Given the description of an element on the screen output the (x, y) to click on. 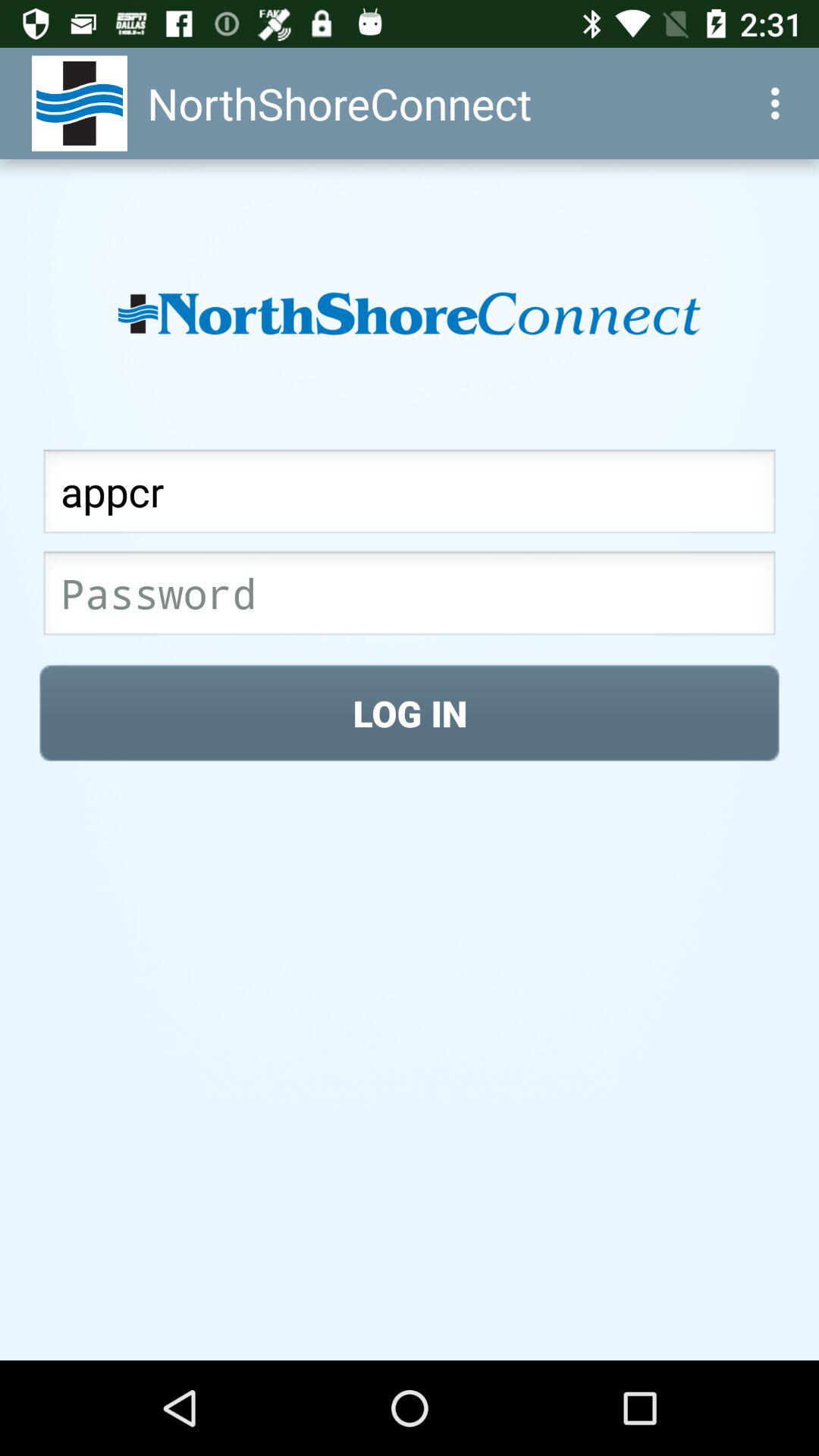
swipe to log in item (409, 712)
